Given the description of an element on the screen output the (x, y) to click on. 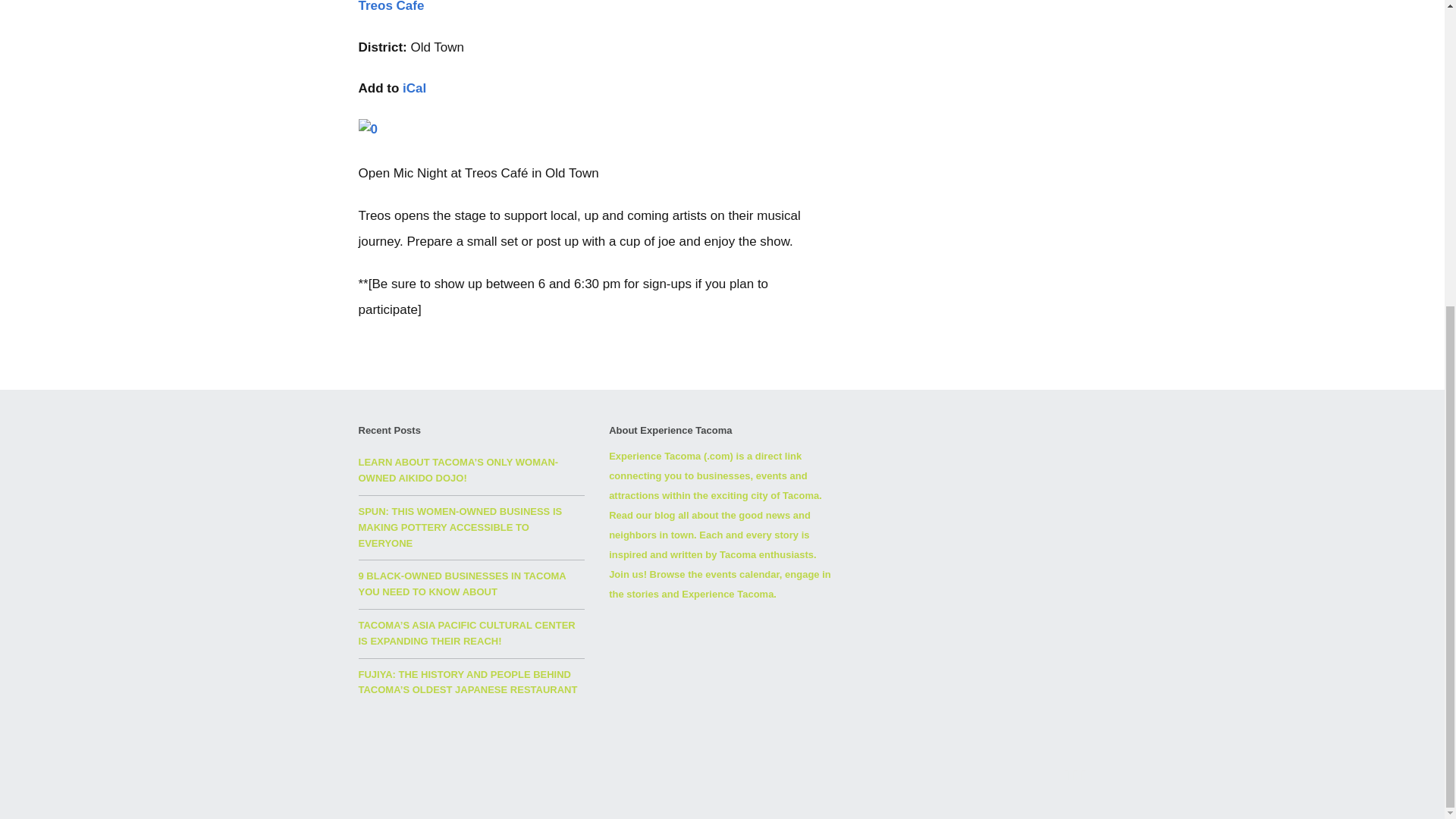
iCal (414, 88)
Treos Cafe (390, 6)
